Given the description of an element on the screen output the (x, y) to click on. 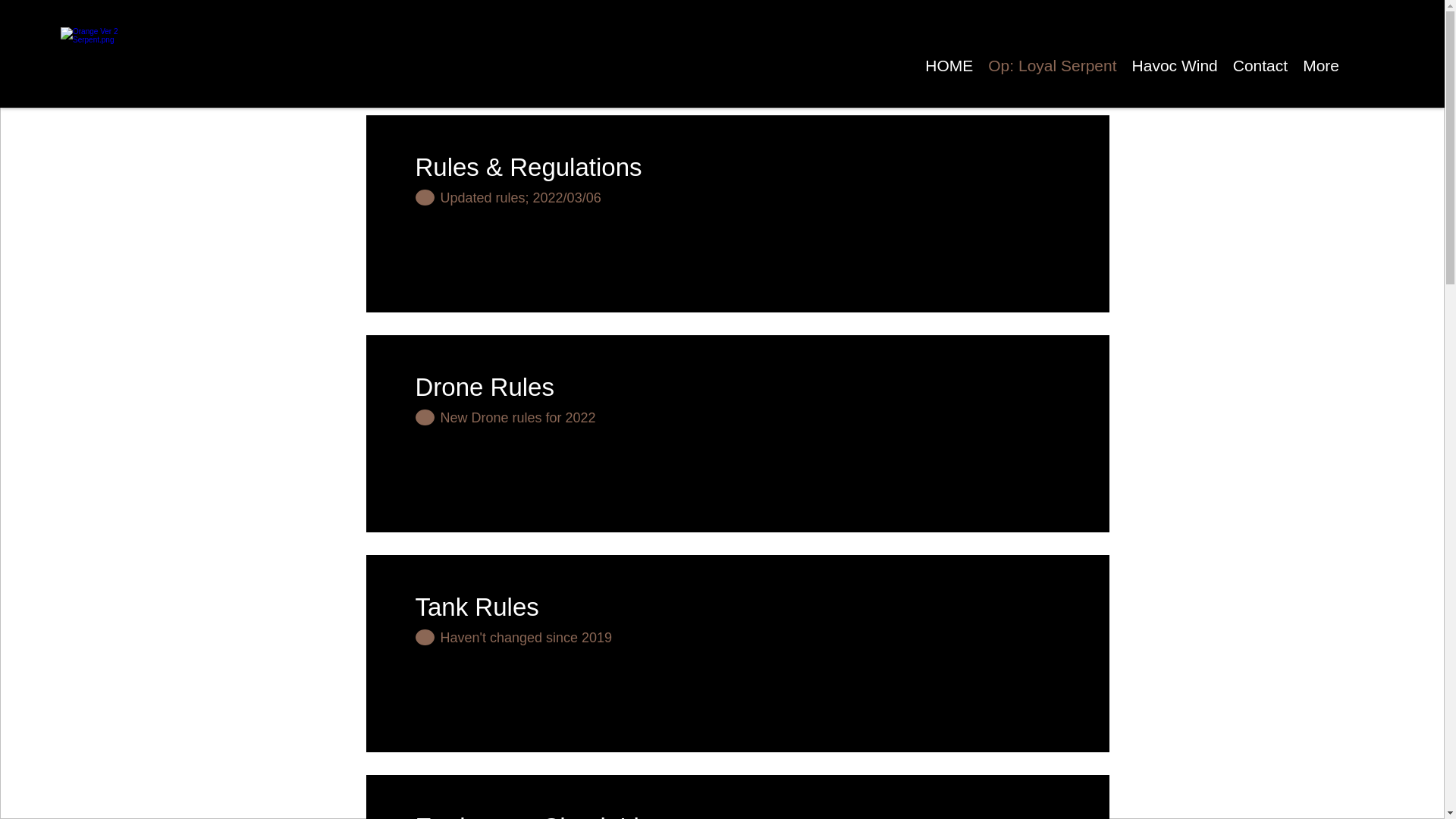
Drone Rules 2.0.pdf (798, 435)
Tank Rules (528, 607)
Drone Rules (528, 387)
OLS 7 Rules Ver 7.7.pdf (798, 215)
Tanks Rules 2.0.pdf (798, 655)
Op: Loyal Serpent (1051, 65)
HOME (948, 65)
Equipment Check List (536, 812)
Havoc Wind (1174, 65)
Contact (1260, 65)
